Given the description of an element on the screen output the (x, y) to click on. 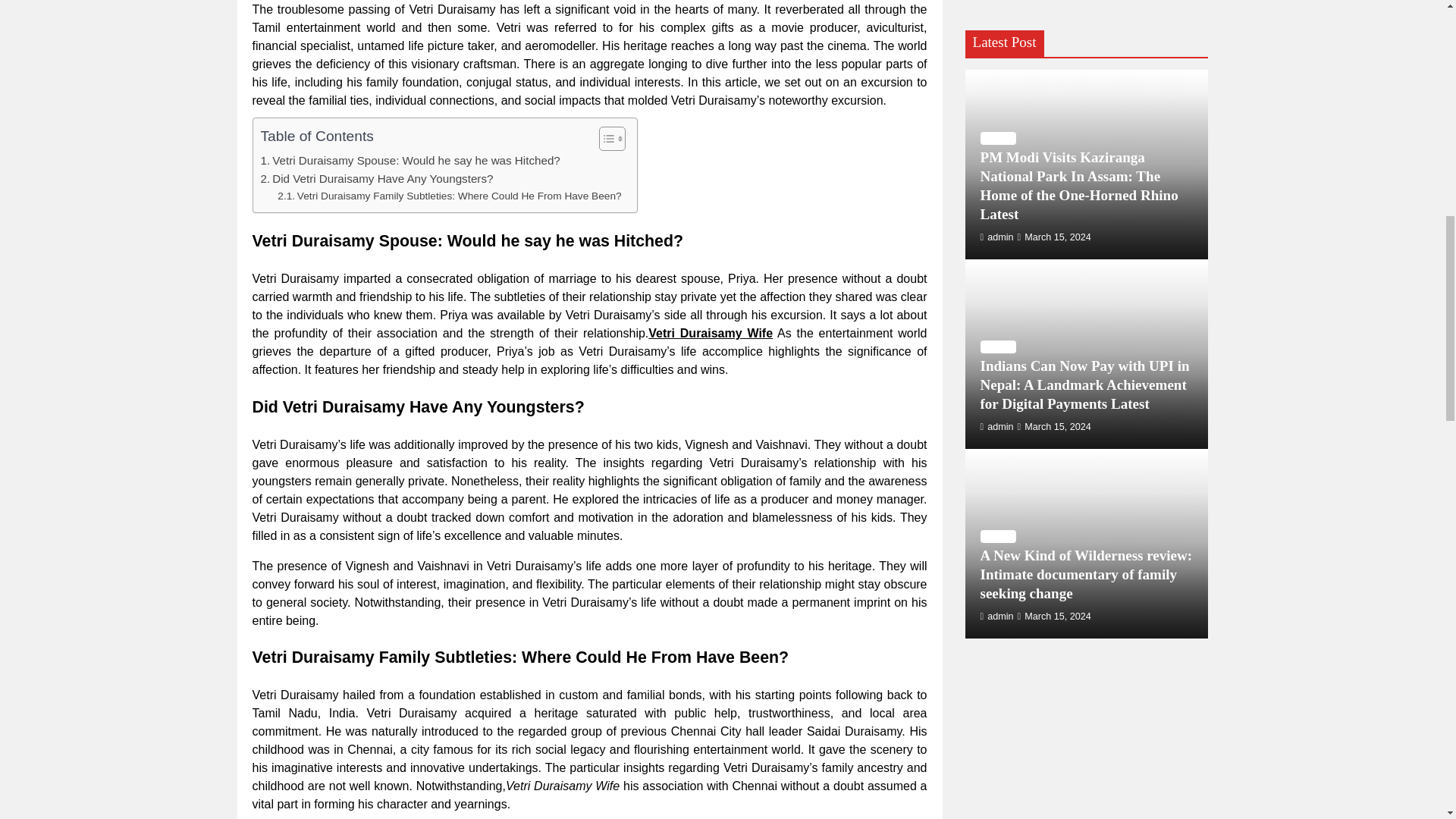
Vetri Duraisamy Spouse: Would he say he was Hitched? (410, 160)
Vetri Duraisamy Spouse: Would he say he was Hitched? (410, 160)
Did Vetri Duraisamy Have Any Youngsters? (376, 178)
Did Vetri Duraisamy Have Any Youngsters? (376, 178)
